Given the description of an element on the screen output the (x, y) to click on. 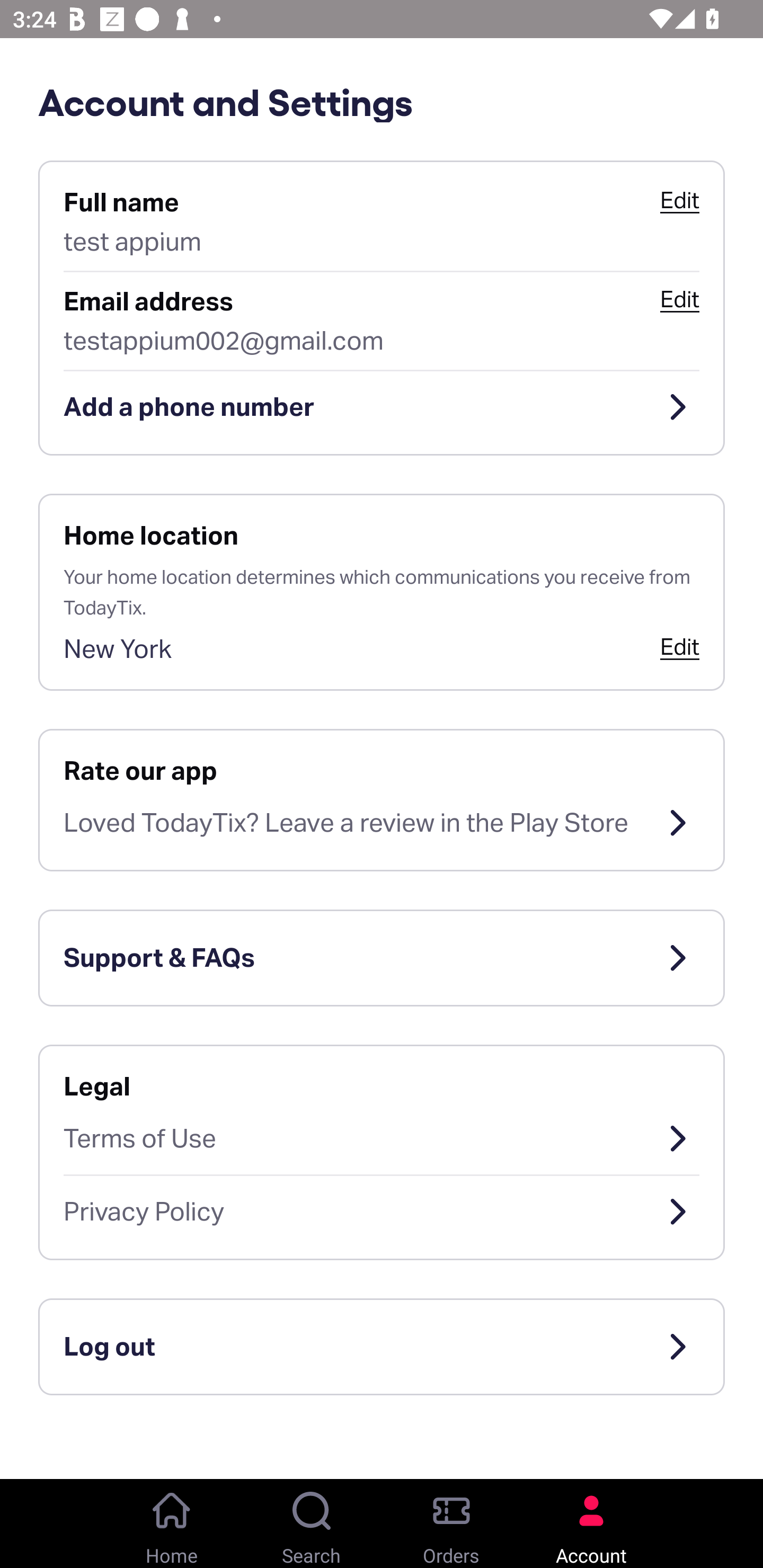
Edit (679, 200)
Edit (679, 299)
Add a phone number (381, 406)
Edit (679, 646)
Loved TodayTix? Leave a review in the Play Store (381, 822)
Support & FAQs (381, 957)
Terms of Use (381, 1137)
Privacy Policy (381, 1211)
Log out (381, 1346)
Home (171, 1523)
Search (311, 1523)
Orders (451, 1523)
